Given the description of an element on the screen output the (x, y) to click on. 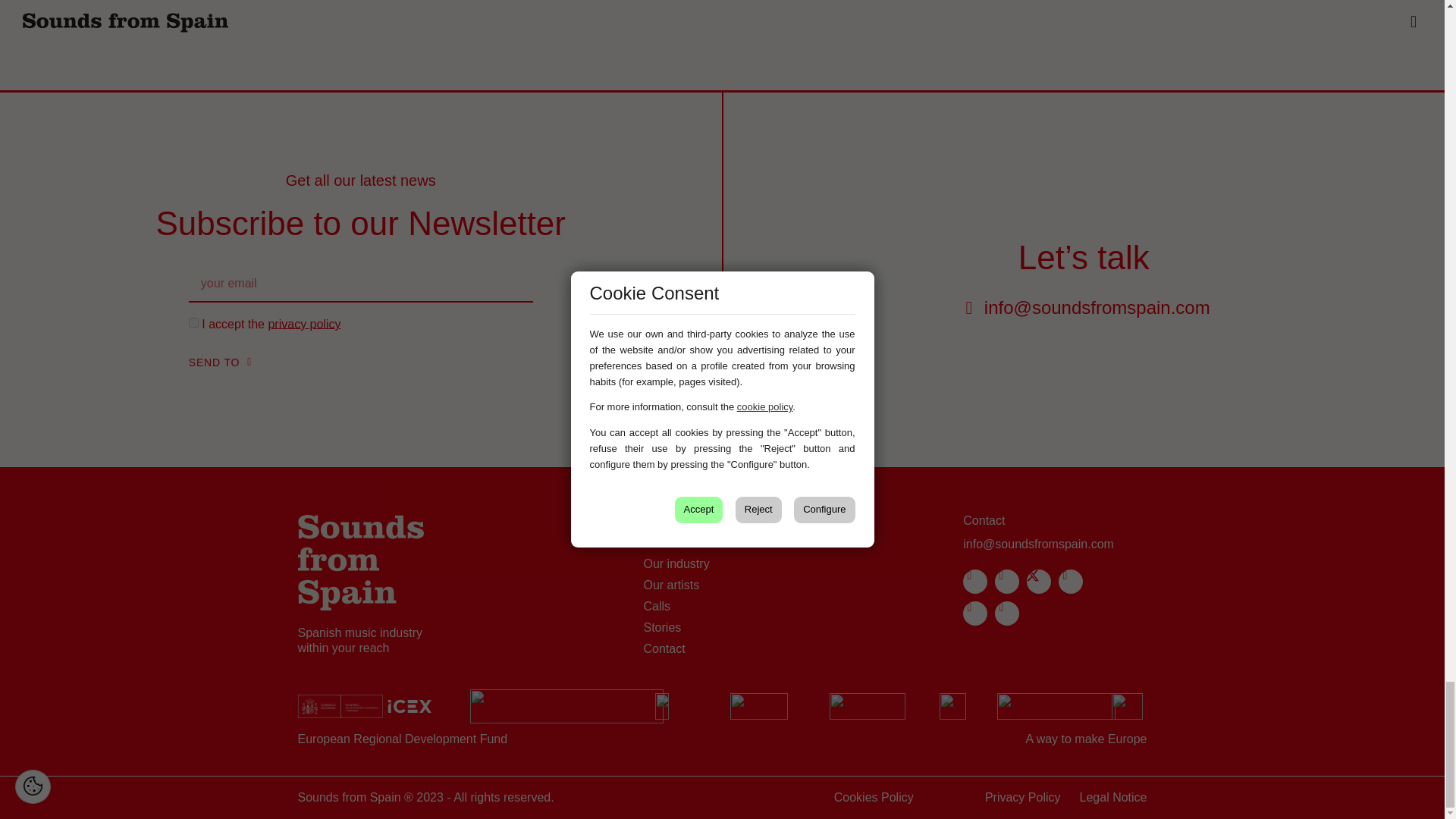
on (193, 322)
